Given the description of an element on the screen output the (x, y) to click on. 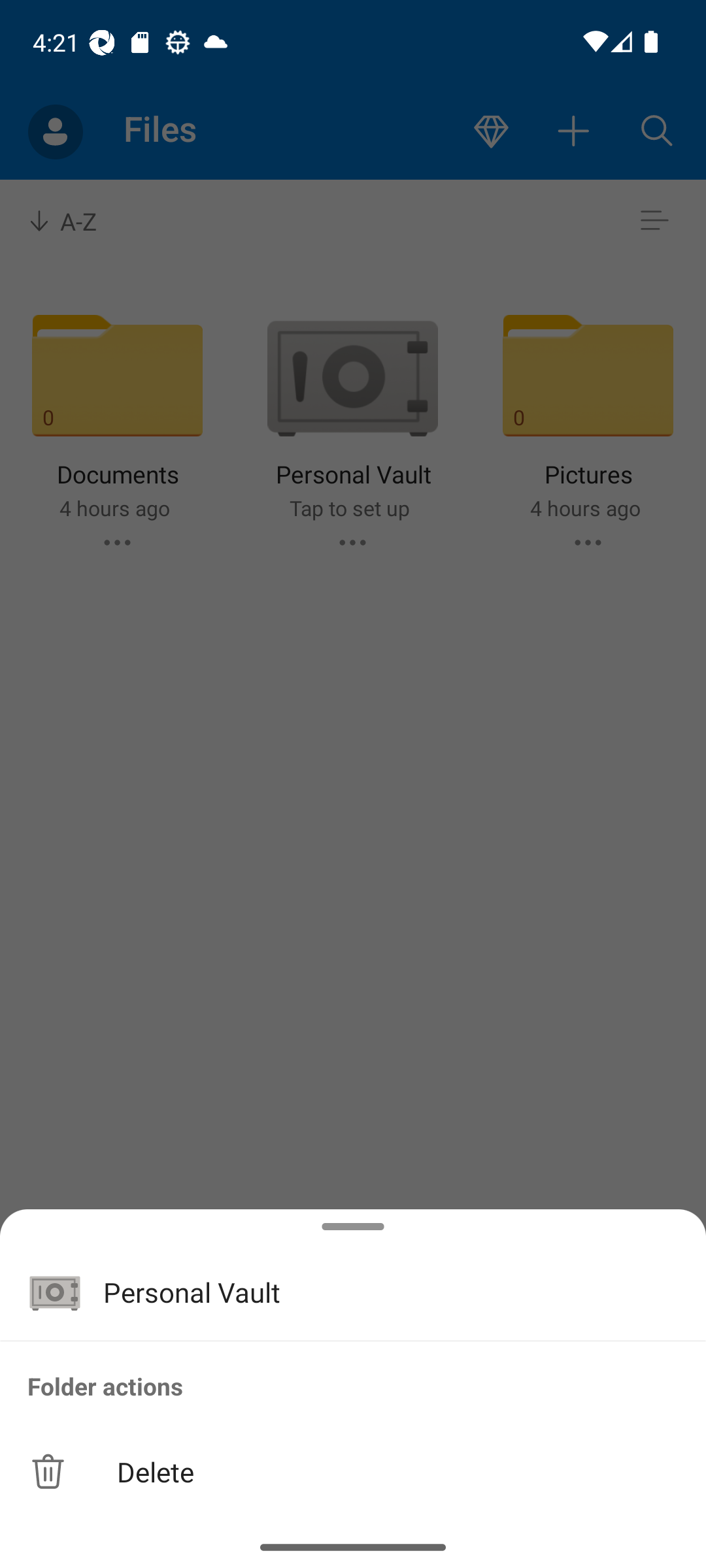
Delete button Delete (353, 1471)
